Given the description of an element on the screen output the (x, y) to click on. 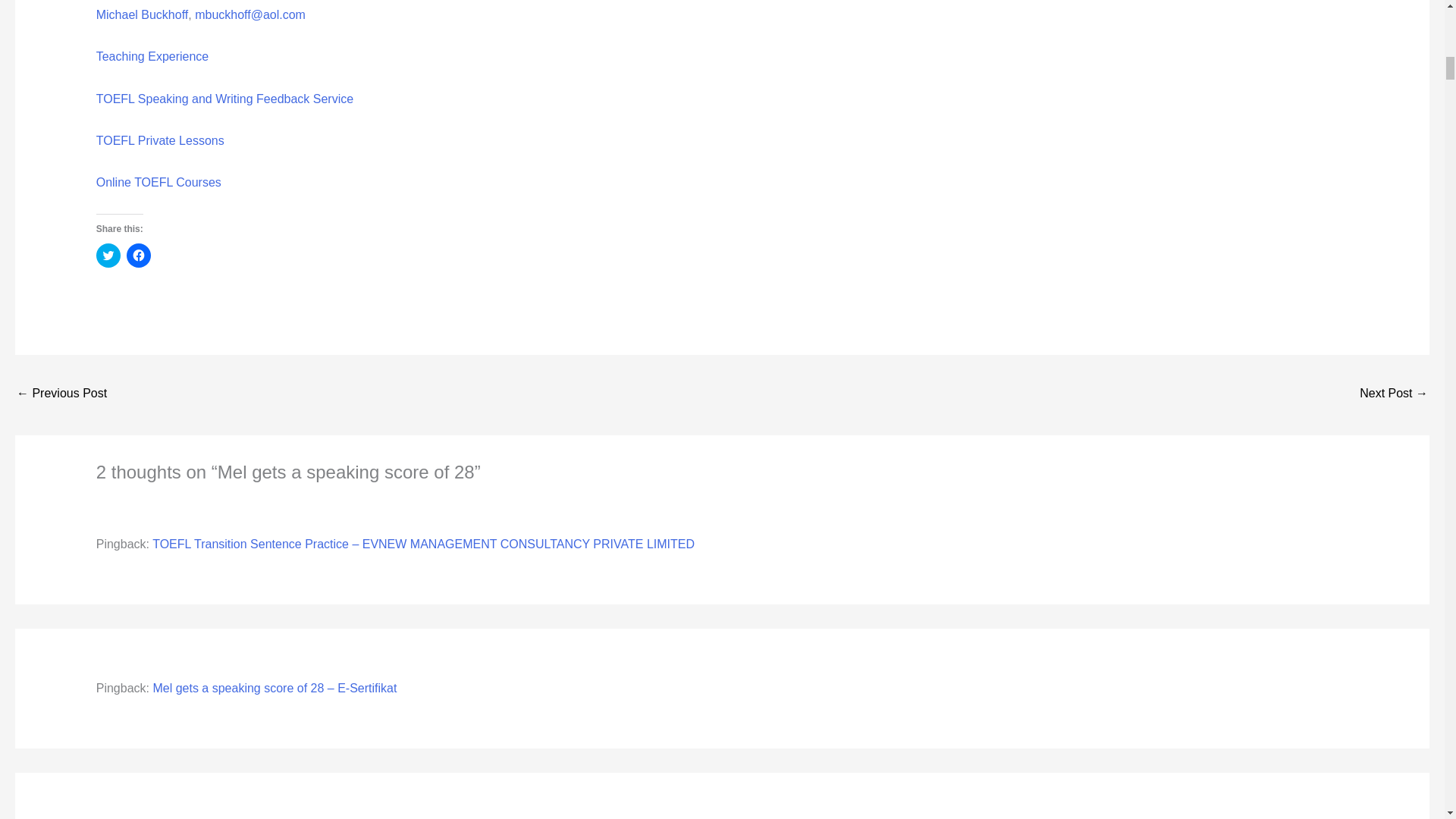
TOEFL Private Lessons (160, 140)
How long for TOEFL speaking intro? (61, 394)
Online TOEFL Courses (158, 182)
TOEFL Speaking and Writing Feedback Service (224, 98)
Michael Buckhoff (142, 14)
Click to share on Twitter (108, 255)
Teaching Experience (152, 56)
TOEFL Score from 96 to 110 (1393, 394)
Click to share on Facebook (138, 255)
